Given the description of an element on the screen output the (x, y) to click on. 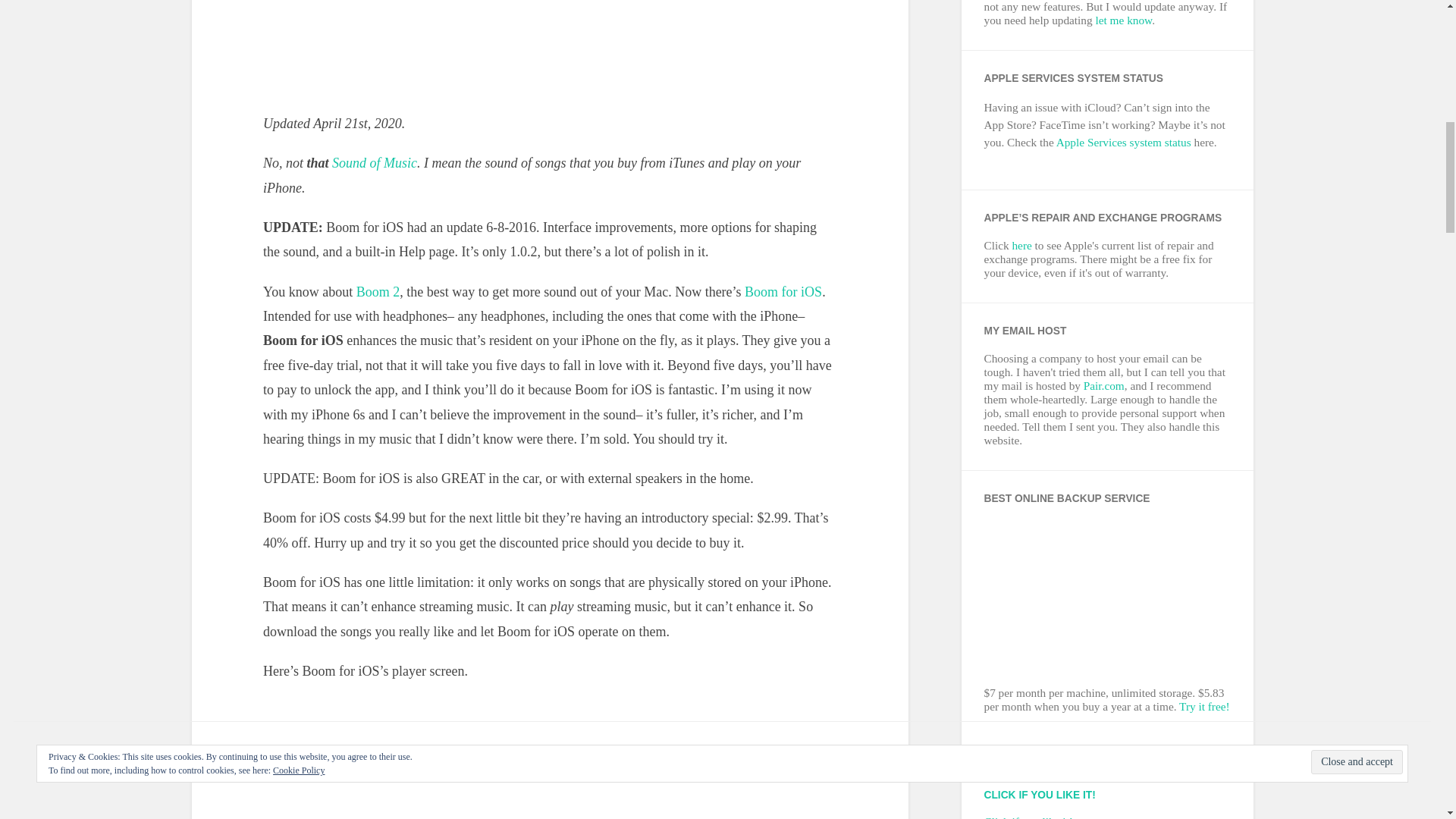
Boom 2 (378, 291)
Sound of Music (373, 162)
Boom for iOS (783, 291)
